Given the description of an element on the screen output the (x, y) to click on. 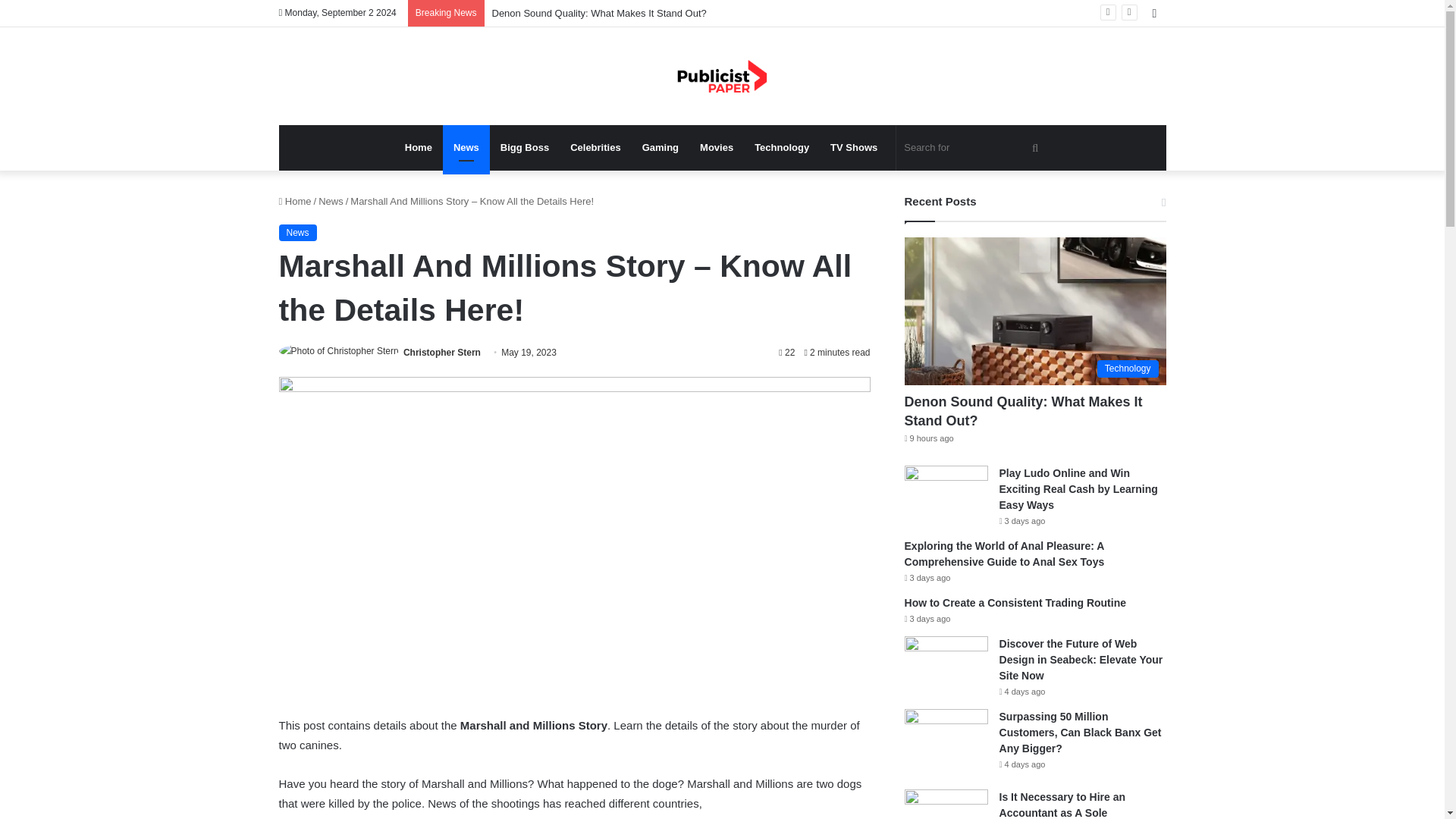
News (465, 147)
Bigg Boss (524, 147)
Technology (781, 147)
News (298, 232)
Denon Sound Quality: What Makes It Stand Out? (599, 12)
Christopher Stern (441, 352)
Search for (972, 147)
Christopher Stern (441, 352)
Home (418, 147)
Movies (716, 147)
